Given the description of an element on the screen output the (x, y) to click on. 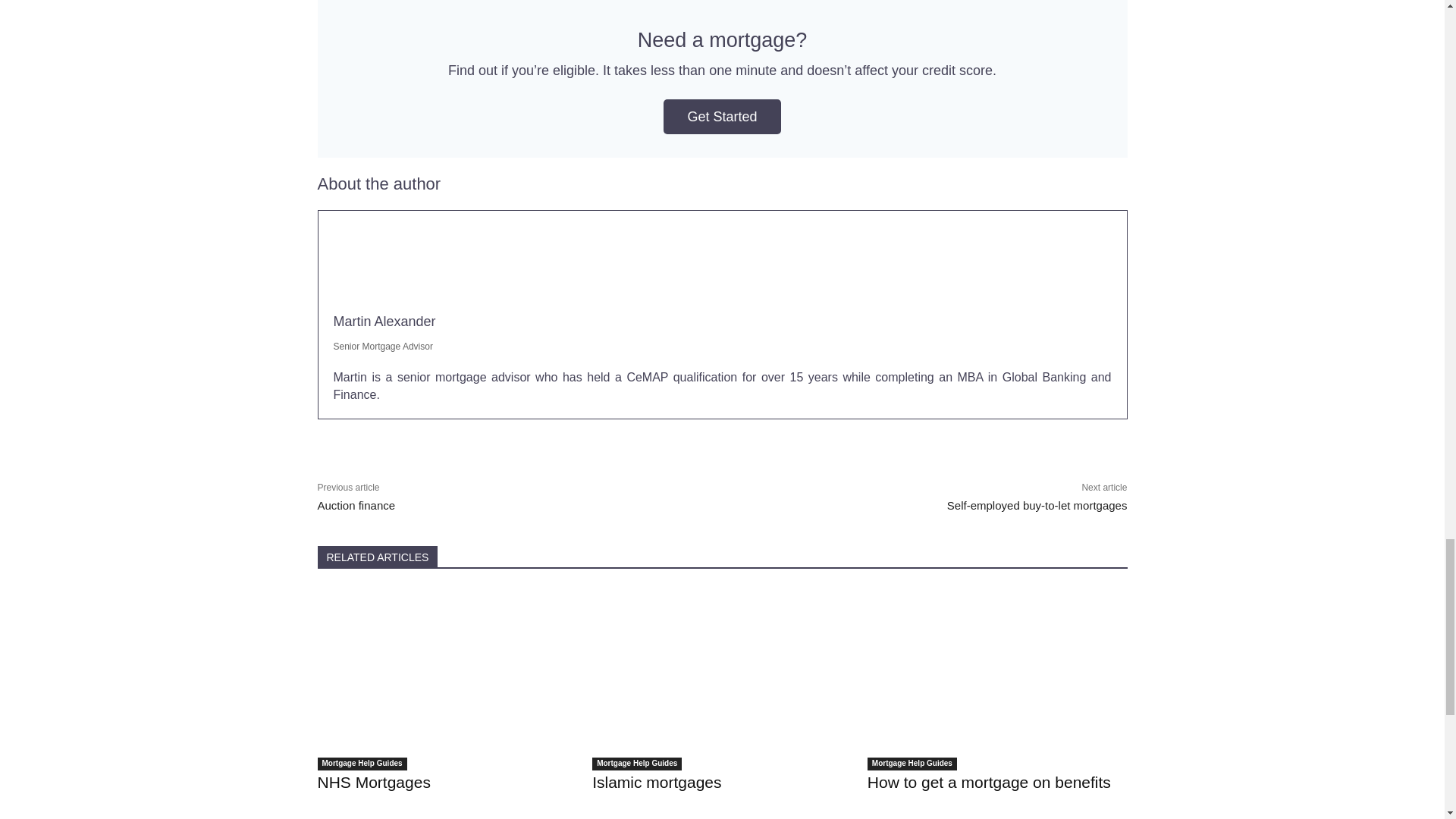
NHS Mortgages (373, 782)
NHS Mortgages (446, 679)
Islamic mortgages (656, 782)
Islamic mortgages (721, 679)
